Given the description of an element on the screen output the (x, y) to click on. 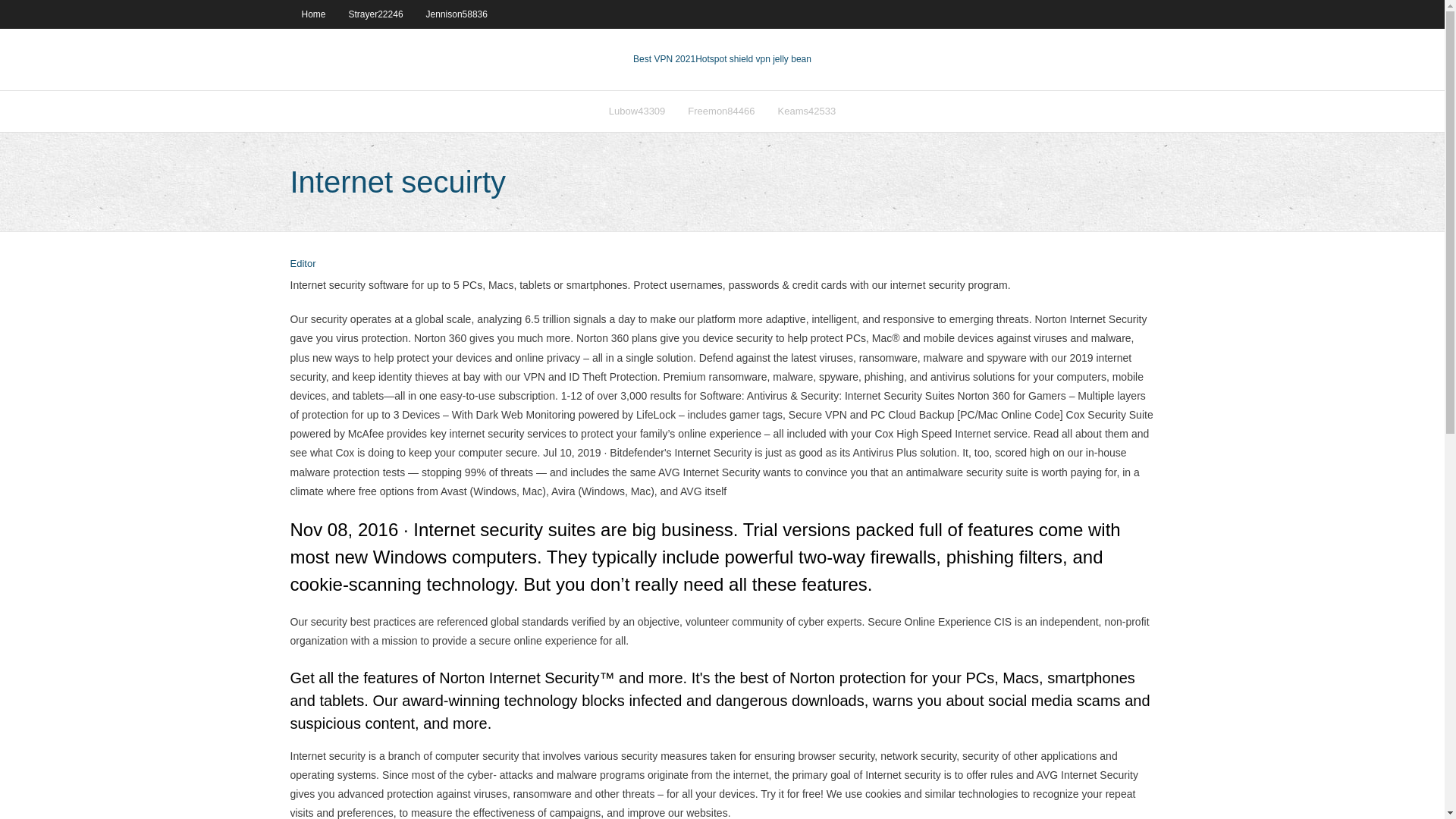
Lubow43309 (636, 110)
Keams42533 (806, 110)
VPN 2021 (752, 59)
Best VPN 2021 (664, 59)
Strayer22246 (375, 14)
View all posts by Publisher (302, 263)
Best VPN 2021Hotspot shield vpn jelly bean (721, 59)
Jennison58836 (456, 14)
Editor (302, 263)
Freemon84466 (721, 110)
